Given the description of an element on the screen output the (x, y) to click on. 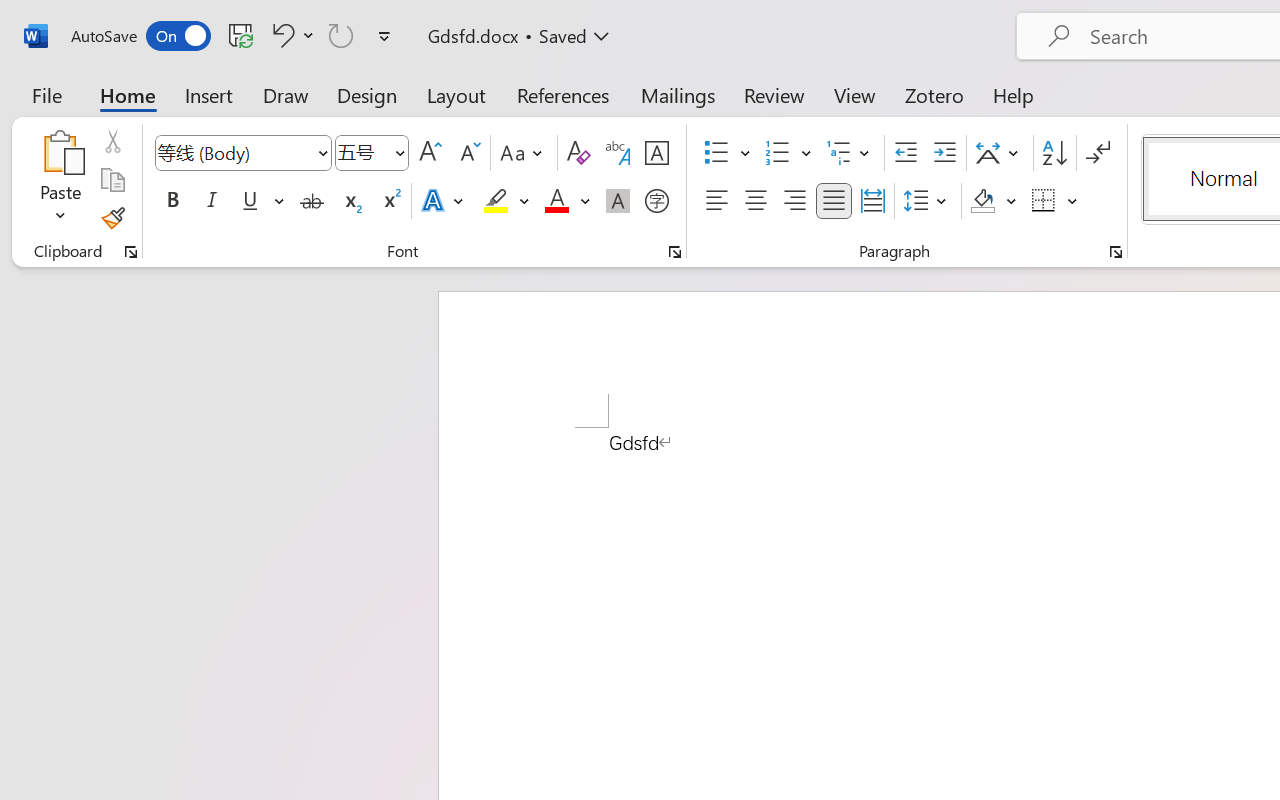
Align Right (794, 201)
Text Effects and Typography (444, 201)
Phonetic Guide... (618, 153)
Decrease Indent (906, 153)
